Given the description of an element on the screen output the (x, y) to click on. 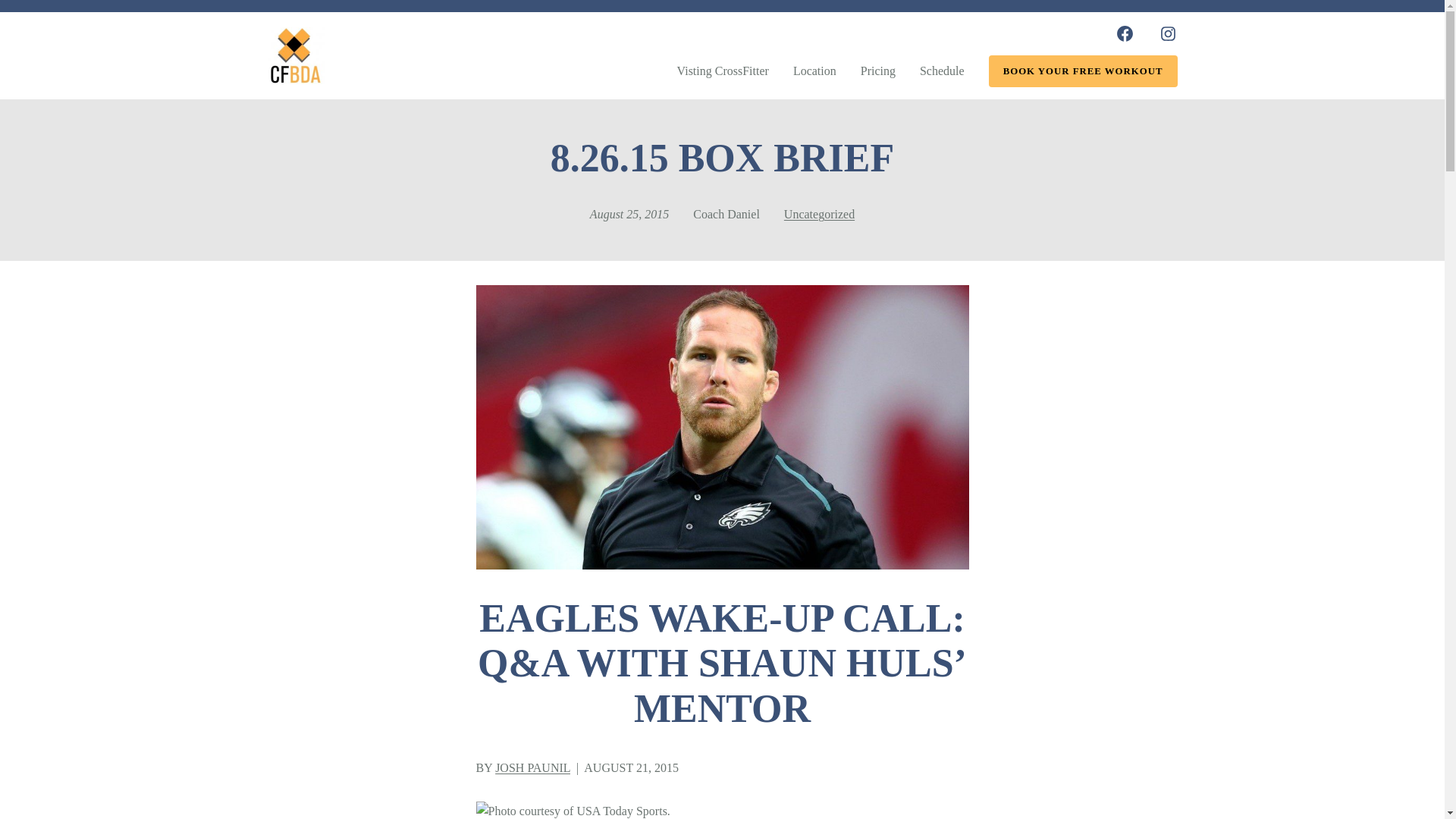
View all posts by Josh Paunil (532, 767)
BOOK YOUR FREE WORKOUT (1082, 70)
Uncategorized (819, 214)
JOSH PAUNIL (532, 767)
Pricing (877, 71)
Visting CrossFitter (722, 71)
Location (814, 71)
Schedule (941, 71)
